Given the description of an element on the screen output the (x, y) to click on. 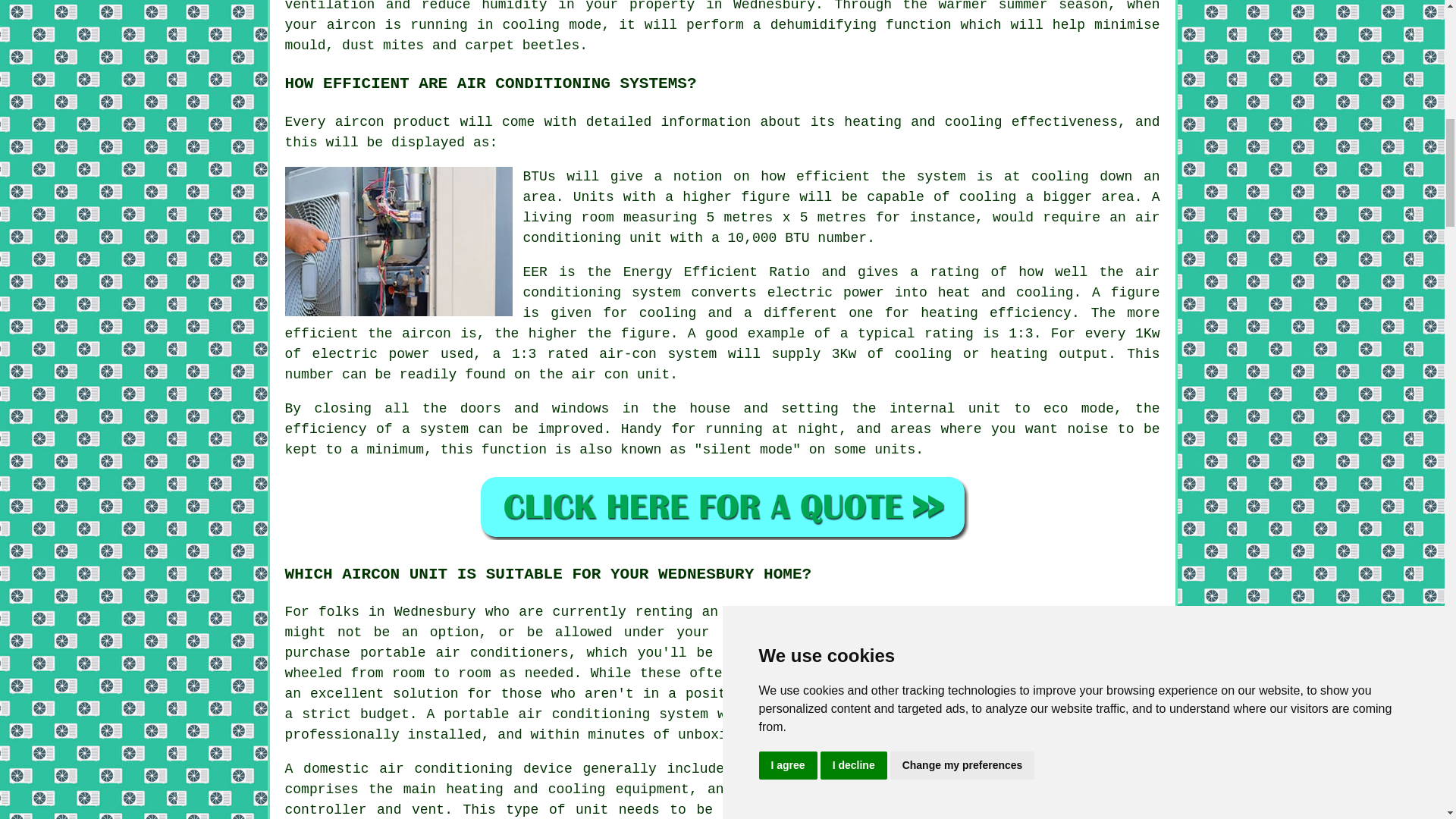
dehumidifying function (861, 24)
Air Conditioning Quotes in Wednesbury West Midlands (722, 505)
Air Conditioning Near Wednesbury West Midlands (1046, 789)
